Given the description of an element on the screen output the (x, y) to click on. 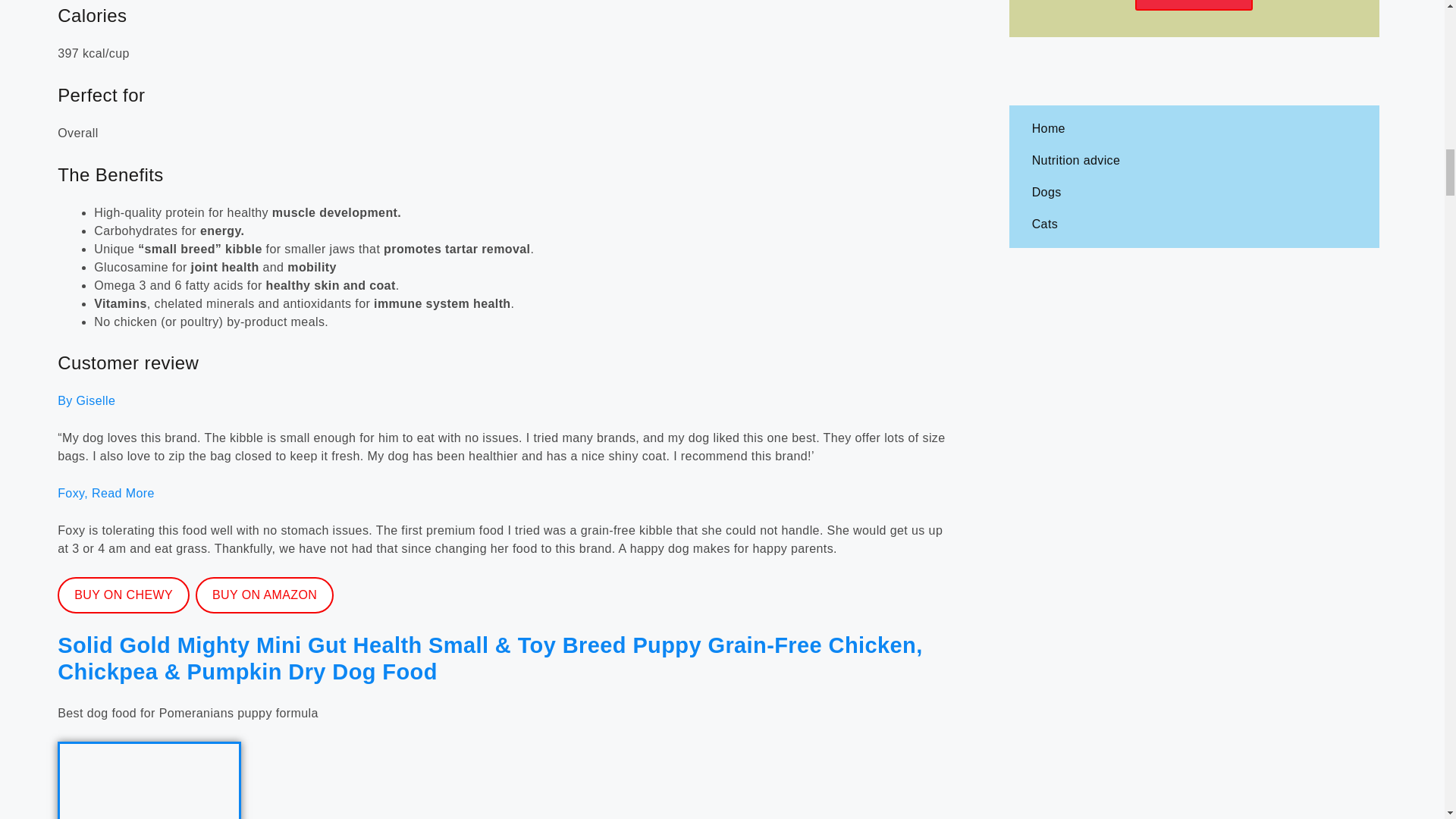
BUY ON CHEWY (123, 595)
By Giselle (86, 400)
Foxy, Read More (106, 492)
BUY ON AMAZON (264, 595)
